Given the description of an element on the screen output the (x, y) to click on. 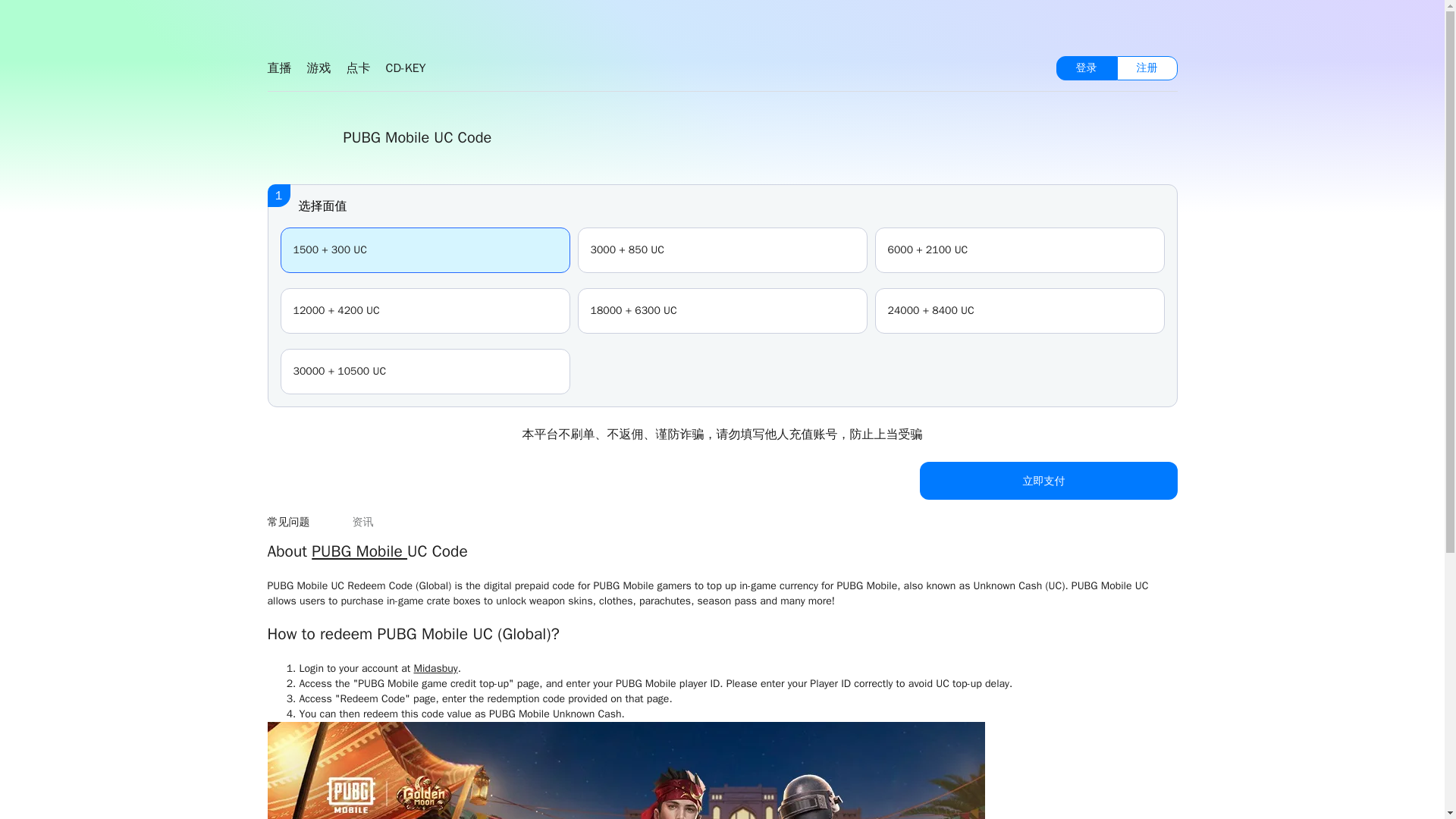
CD-KEY (405, 68)
Midasbuy (435, 667)
PUBG Mobile  (359, 551)
